Given the description of an element on the screen output the (x, y) to click on. 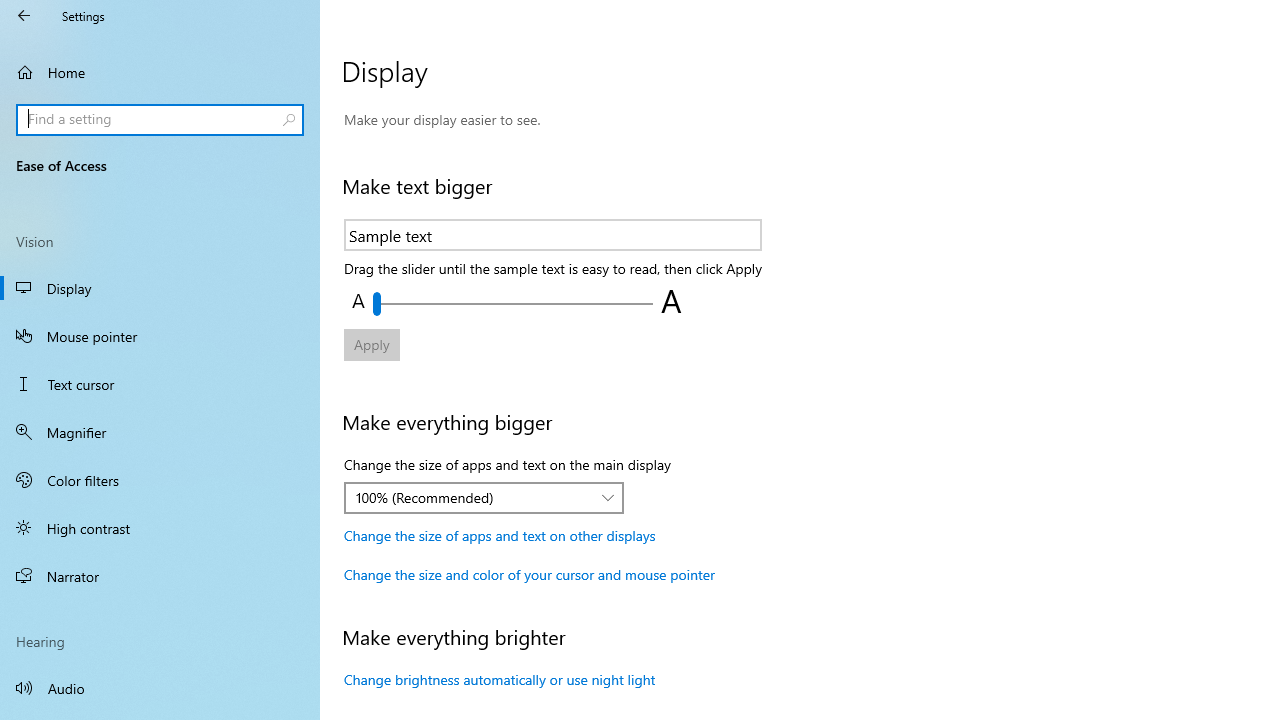
Change brightness automatically or use night light (499, 679)
Color filters (160, 479)
